Given the description of an element on the screen output the (x, y) to click on. 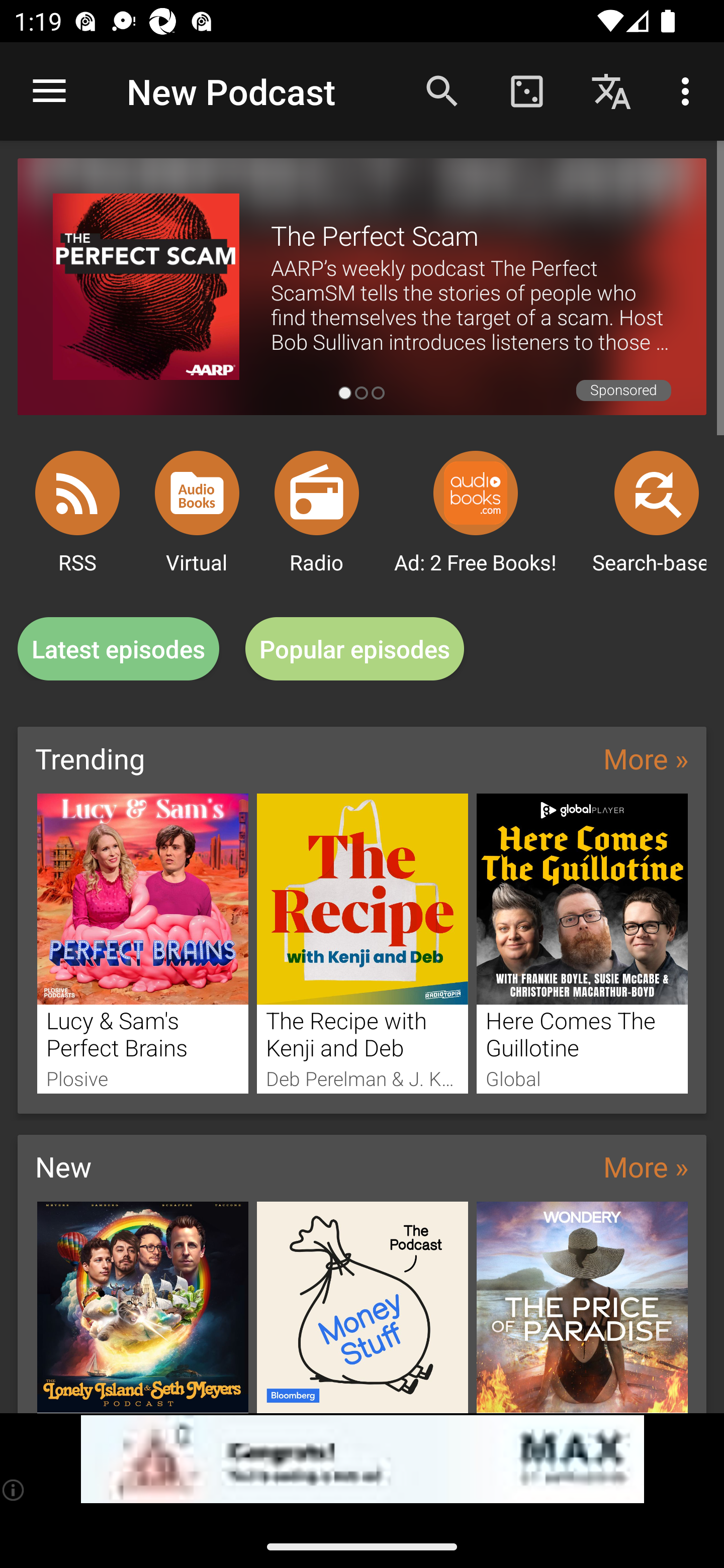
Open navigation sidebar (49, 91)
Search (442, 90)
Random pick (526, 90)
Podcast languages (611, 90)
More options (688, 90)
RSS (77, 492)
Virtual (196, 492)
Radio (316, 492)
Search-based (656, 492)
Latest episodes (118, 648)
Popular episodes (354, 648)
More » (645, 757)
Lucy & Sam's Perfect Brains Plosive (142, 942)
Here Comes The Guillotine Global (581, 942)
More » (645, 1166)
The Lonely Island and Seth Meyers Podcast (142, 1306)
Money Stuff: The Podcast (362, 1306)
The Price of Paradise (581, 1306)
app-monetization (362, 1459)
(i) (14, 1489)
